Given the description of an element on the screen output the (x, y) to click on. 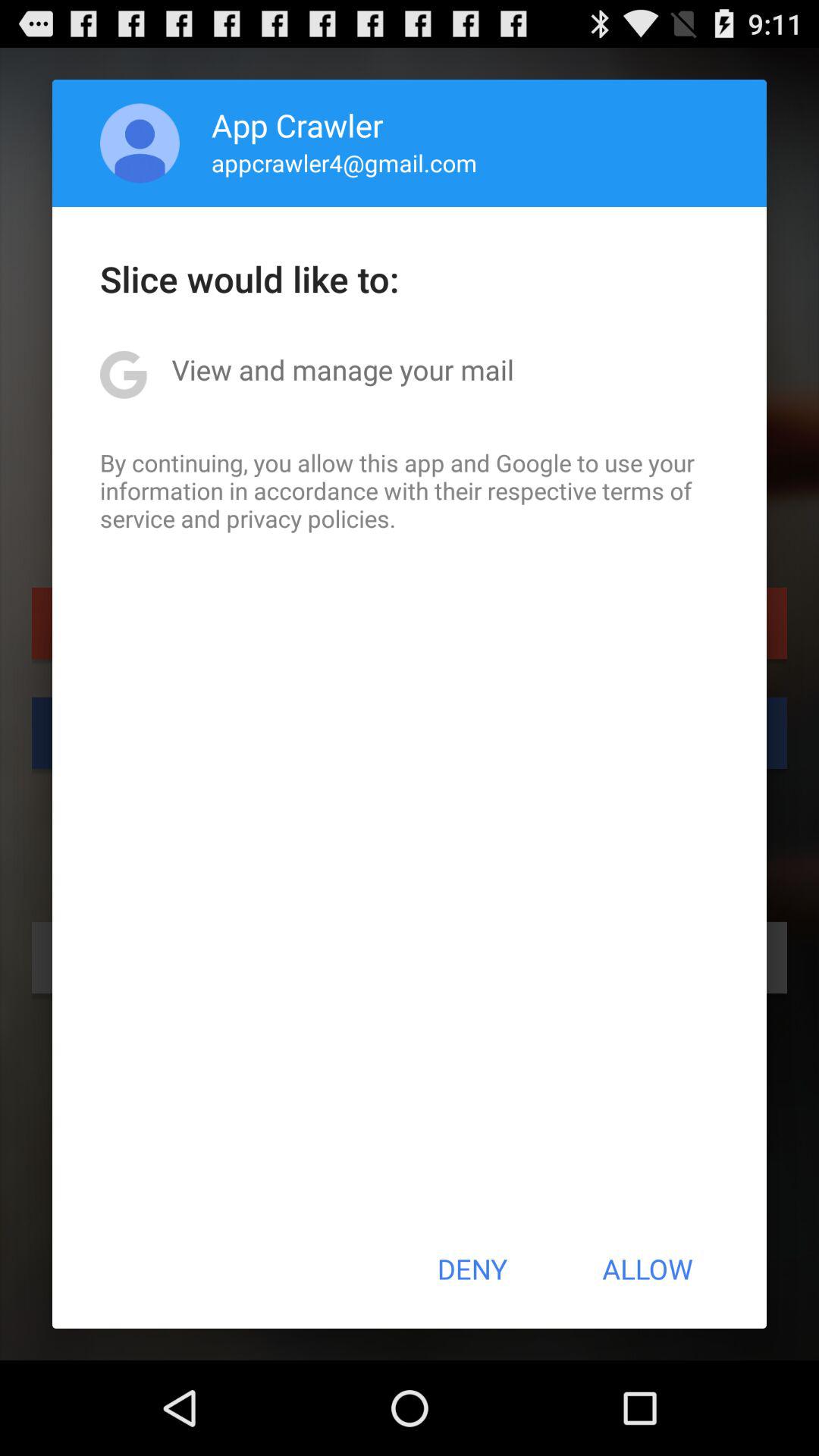
launch the icon above appcrawler4@gmail.com app (297, 124)
